Given the description of an element on the screen output the (x, y) to click on. 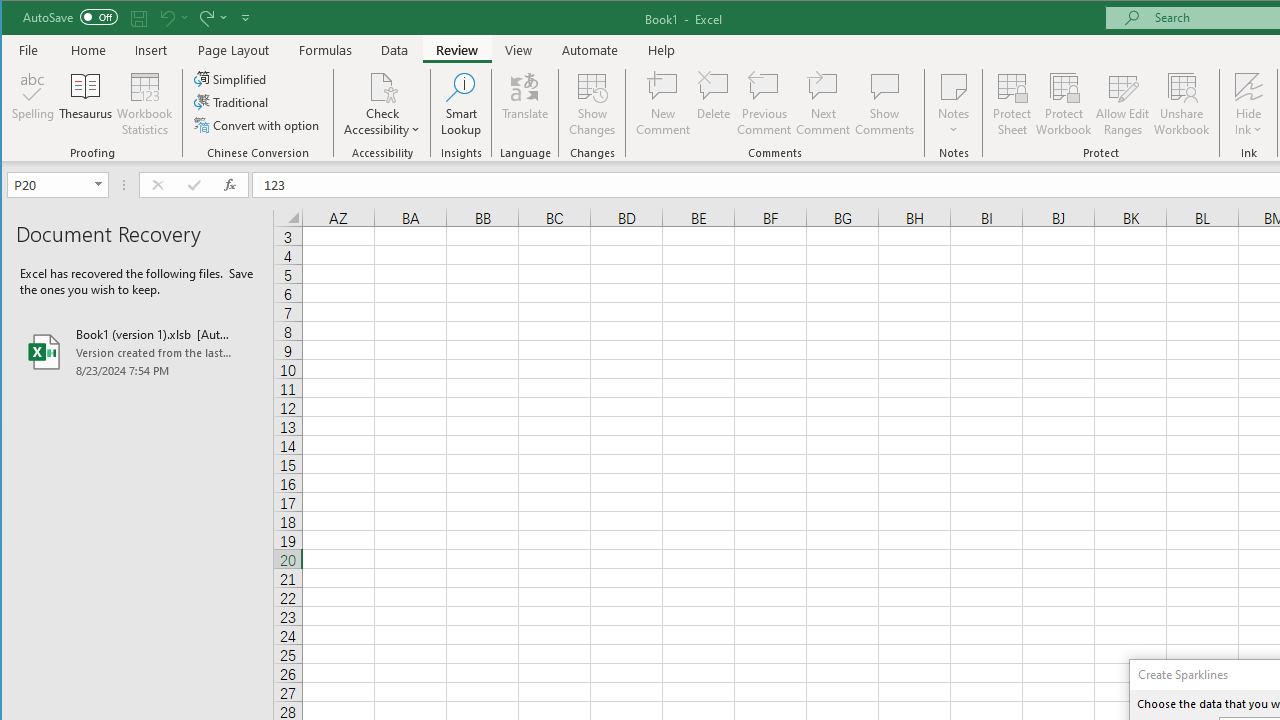
AutoSave (70, 16)
Spelling... (33, 104)
Next Comment (822, 104)
Show Comments (884, 104)
Quick Access Toolbar (137, 17)
Simplified (231, 78)
Customize Quick Access Toolbar (245, 17)
Workbook Statistics (145, 104)
Allow Edit Ranges (1123, 104)
Show Changes (592, 104)
Previous Comment (763, 104)
Open (99, 184)
